Given the description of an element on the screen output the (x, y) to click on. 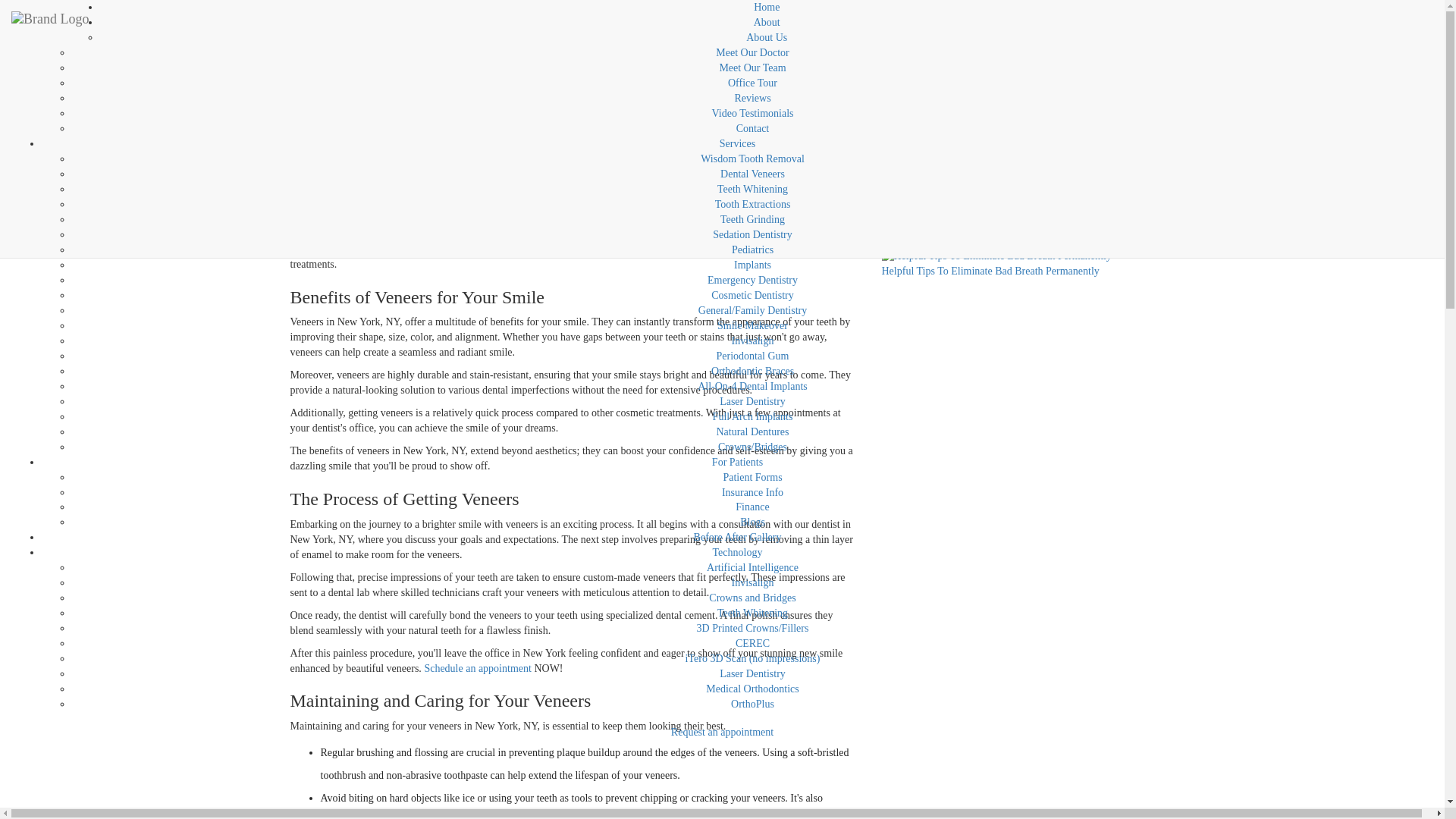
Reviews (751, 98)
Patient Forms (751, 477)
Periodontal Gum (752, 355)
Wisdom Tooth Removal (752, 158)
Teeth Grinding (752, 219)
Dental Veneers (752, 173)
Laser Dentistry (752, 401)
Office Tour (752, 82)
Finance (751, 506)
Contact (753, 128)
Brand Logo (49, 18)
About Us (766, 37)
Teeth Whitening (752, 188)
Invisalign (751, 340)
Meet Our Doctor (752, 52)
